Given the description of an element on the screen output the (x, y) to click on. 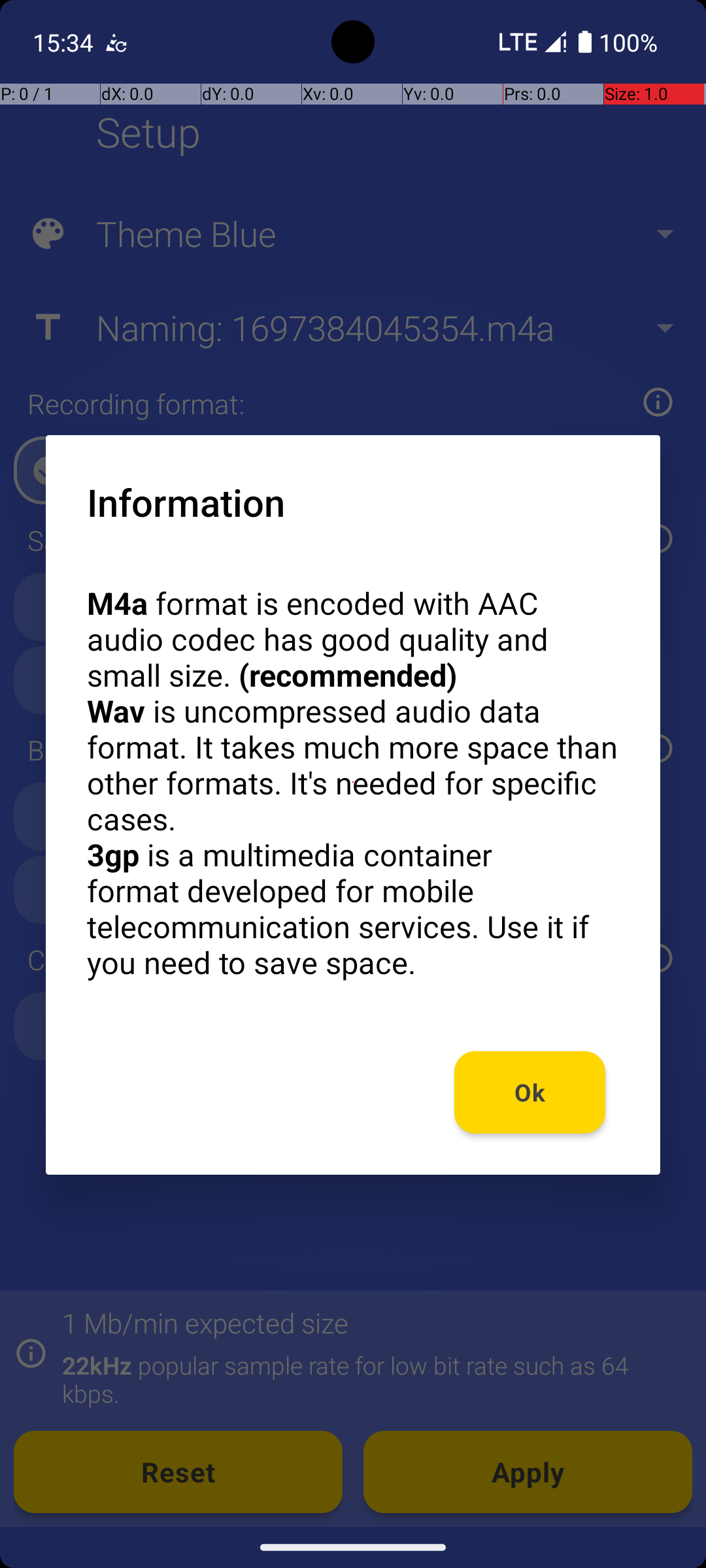
Information Element type: android.widget.TextView (185, 501)
M4a format is encoded with AAC audio codec has good quality and small size. (recommended) 
Wav is uncompressed audio data format. It takes much more space than other formats. It's needed for specific cases. 
3gp is a multimedia container format developed for mobile telecommunication services. Use it if you need to save space.  Element type: android.widget.TextView (352, 782)
Ok Element type: android.widget.Button (529, 1092)
